Given the description of an element on the screen output the (x, y) to click on. 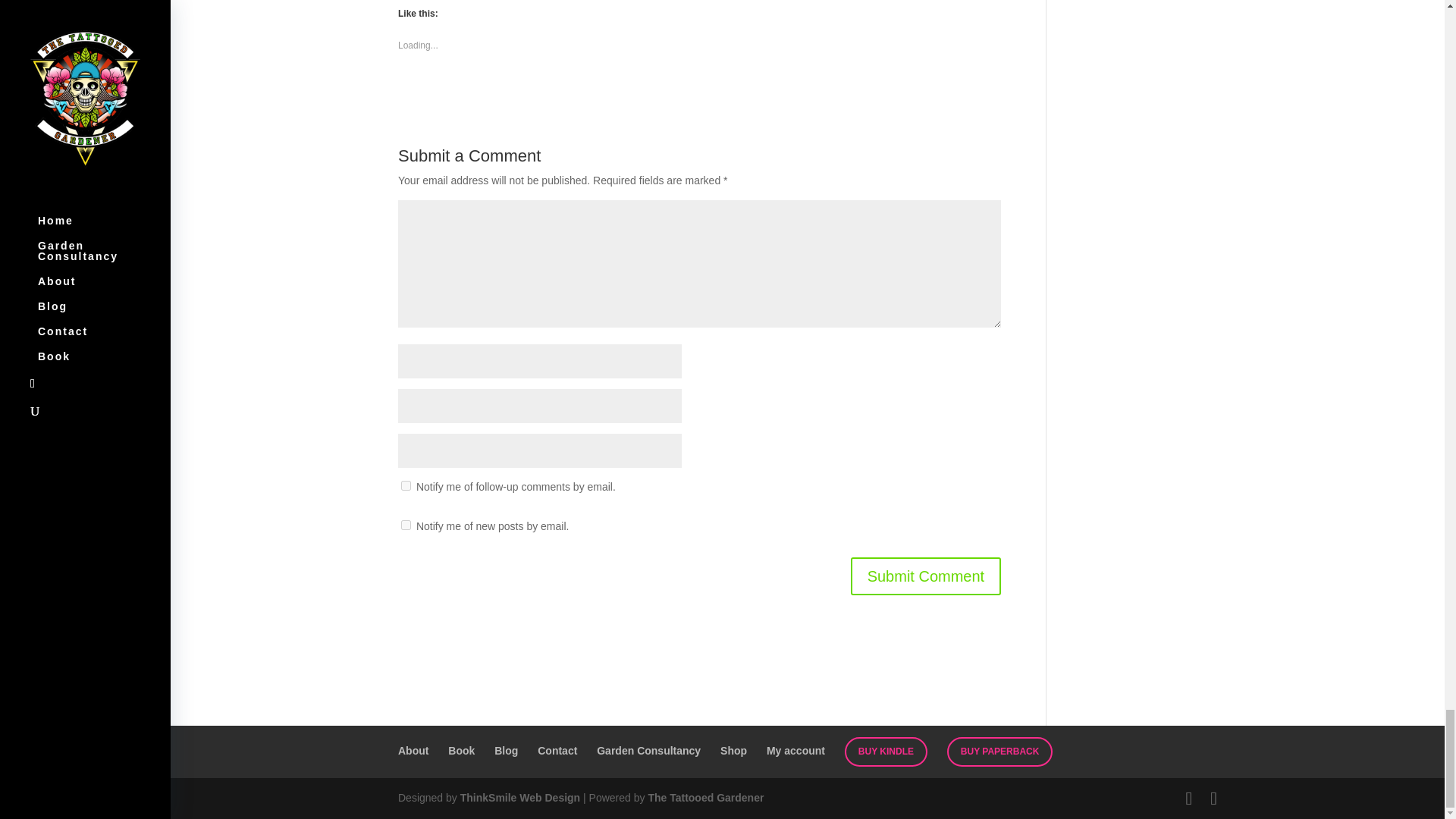
subscribe (405, 524)
Premium Website Design (519, 797)
subscribe (405, 485)
Submit Comment (925, 576)
Submit Comment (925, 576)
